Given the description of an element on the screen output the (x, y) to click on. 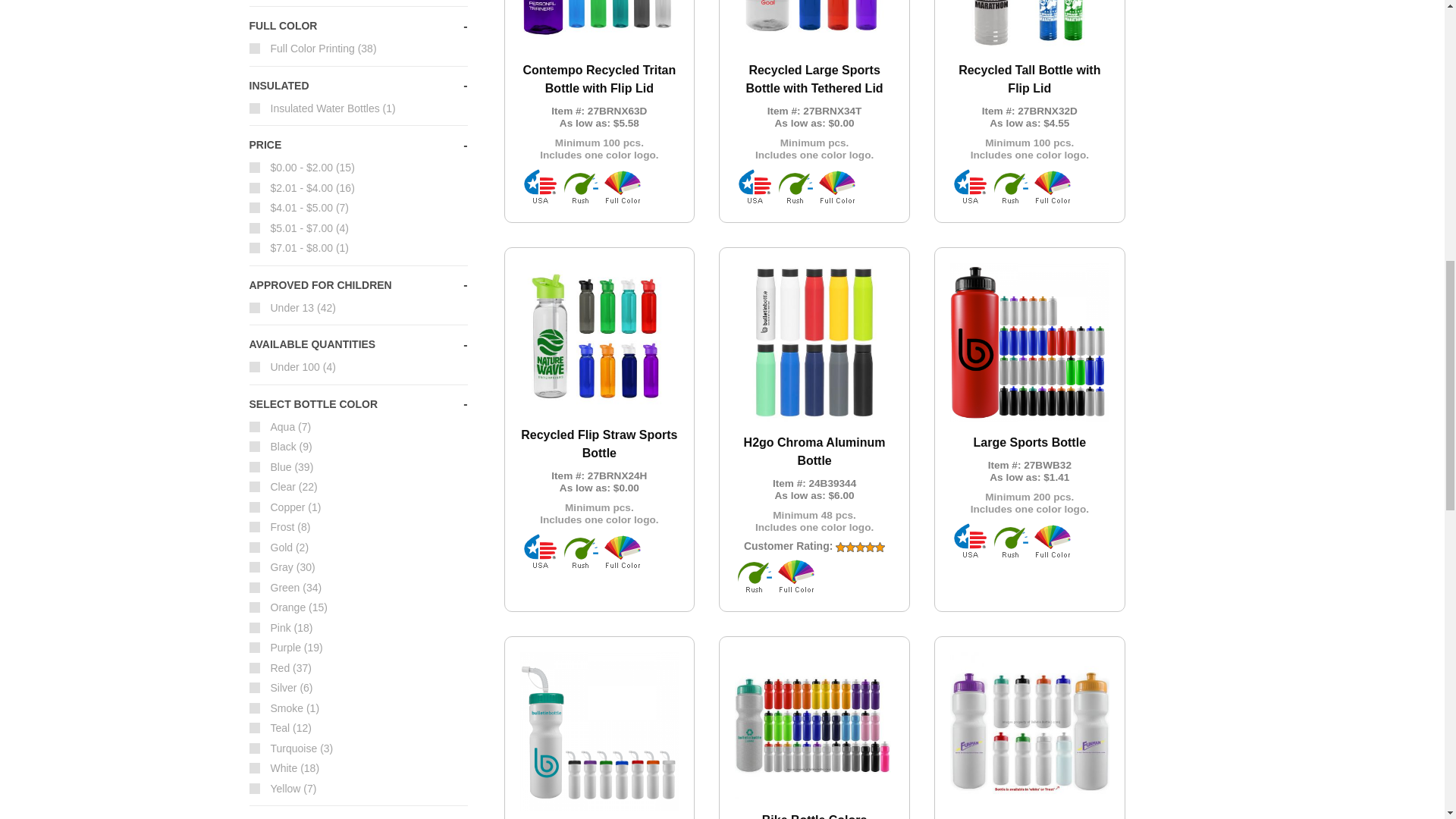
Recycled Large Sports Bottle with Tethered Lid (814, 83)
H2go Chroma Aluminum Bottle (814, 409)
Large Sports Bottle (1029, 391)
Recycled Tall Bottle with Flip Lid (1029, 83)
Contempo Recycled Tritan Bottle with Flip Lid (599, 83)
Recycled Flip Straw Sports Bottle (599, 396)
